Given the description of an element on the screen output the (x, y) to click on. 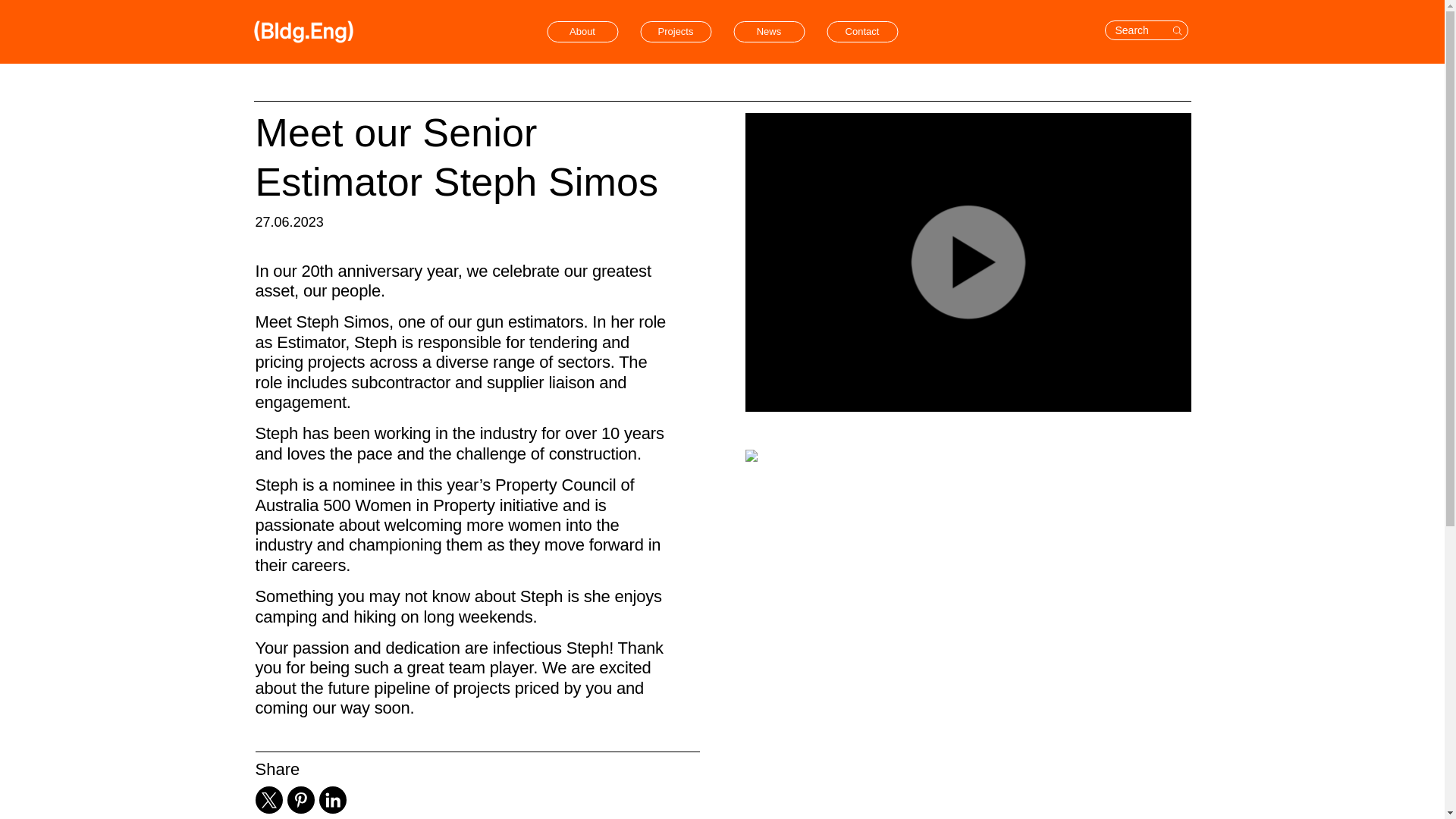
Contact (862, 31)
Projects (675, 31)
Search (1145, 30)
News (769, 31)
About (582, 31)
